Given the description of an element on the screen output the (x, y) to click on. 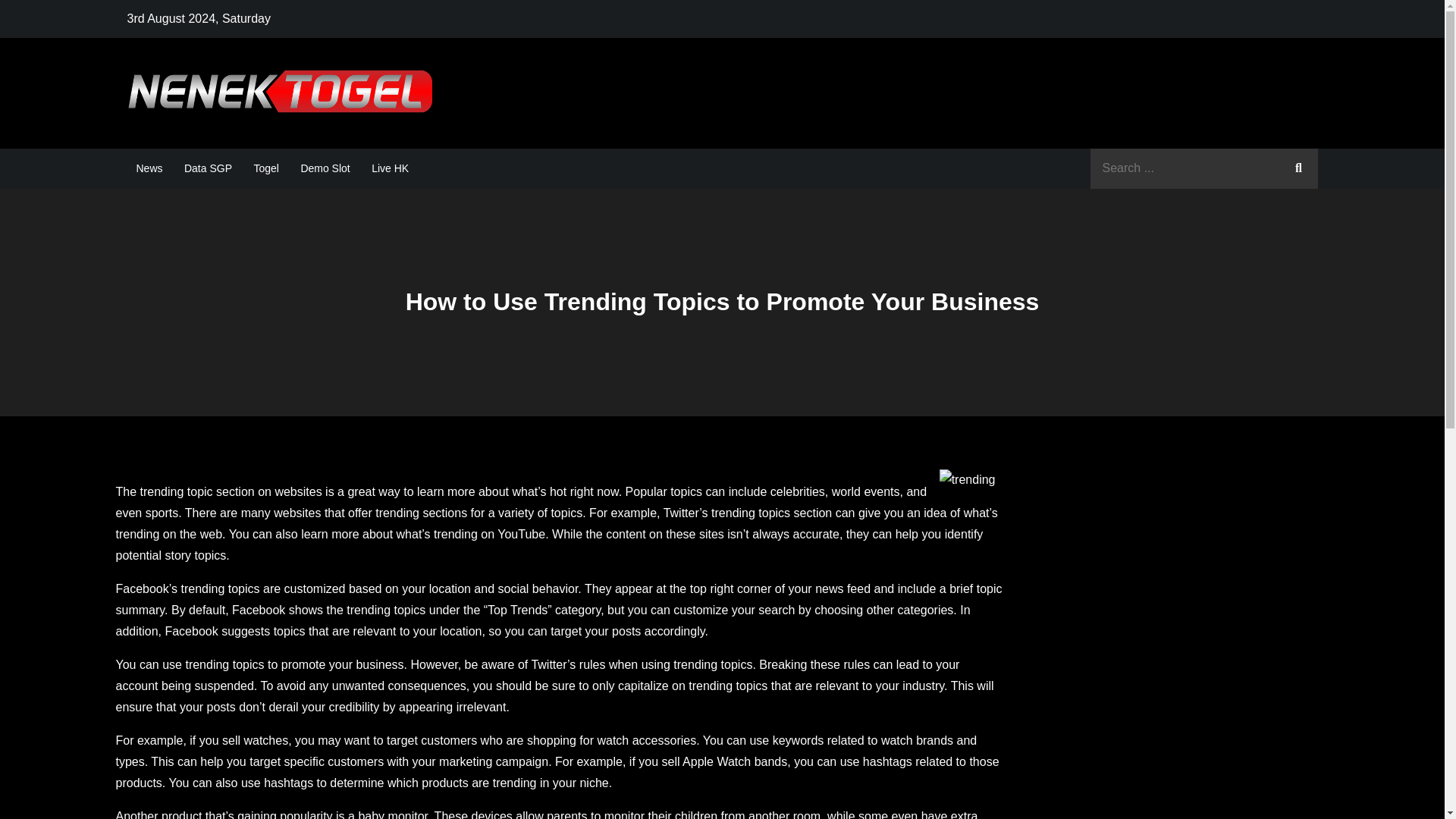
Togel (265, 168)
News (149, 168)
Pragmatic, Pragmatic Play, Agen Slot Pragmatic 2021 (758, 108)
Search (1298, 168)
Data SGP (207, 168)
Demo Slot (324, 168)
Search for: (1203, 168)
Live HK (389, 168)
